Given the description of an element on the screen output the (x, y) to click on. 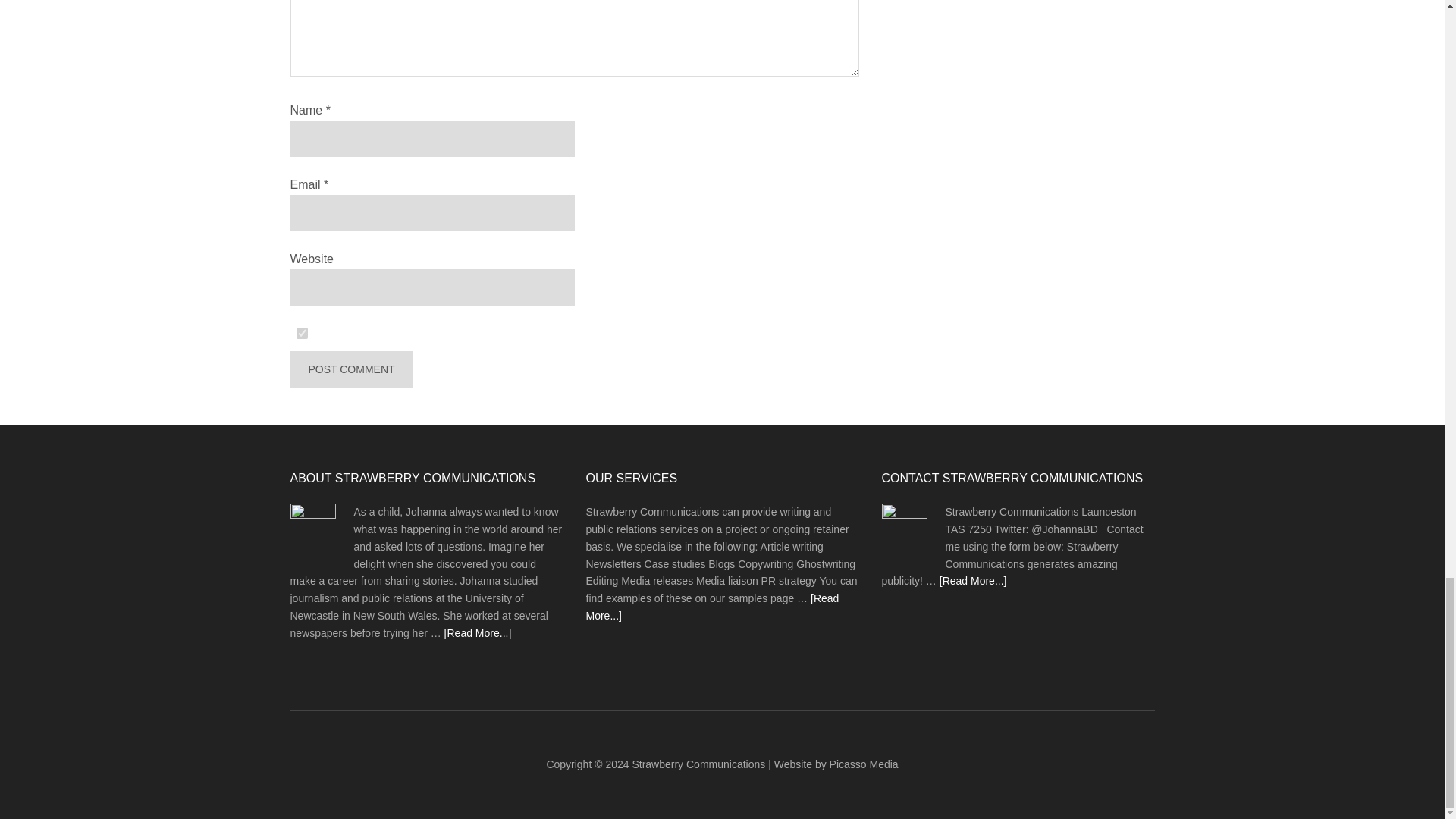
Post Comment (350, 369)
Post Comment (350, 369)
on (302, 333)
small business website design (863, 764)
